Given the description of an element on the screen output the (x, y) to click on. 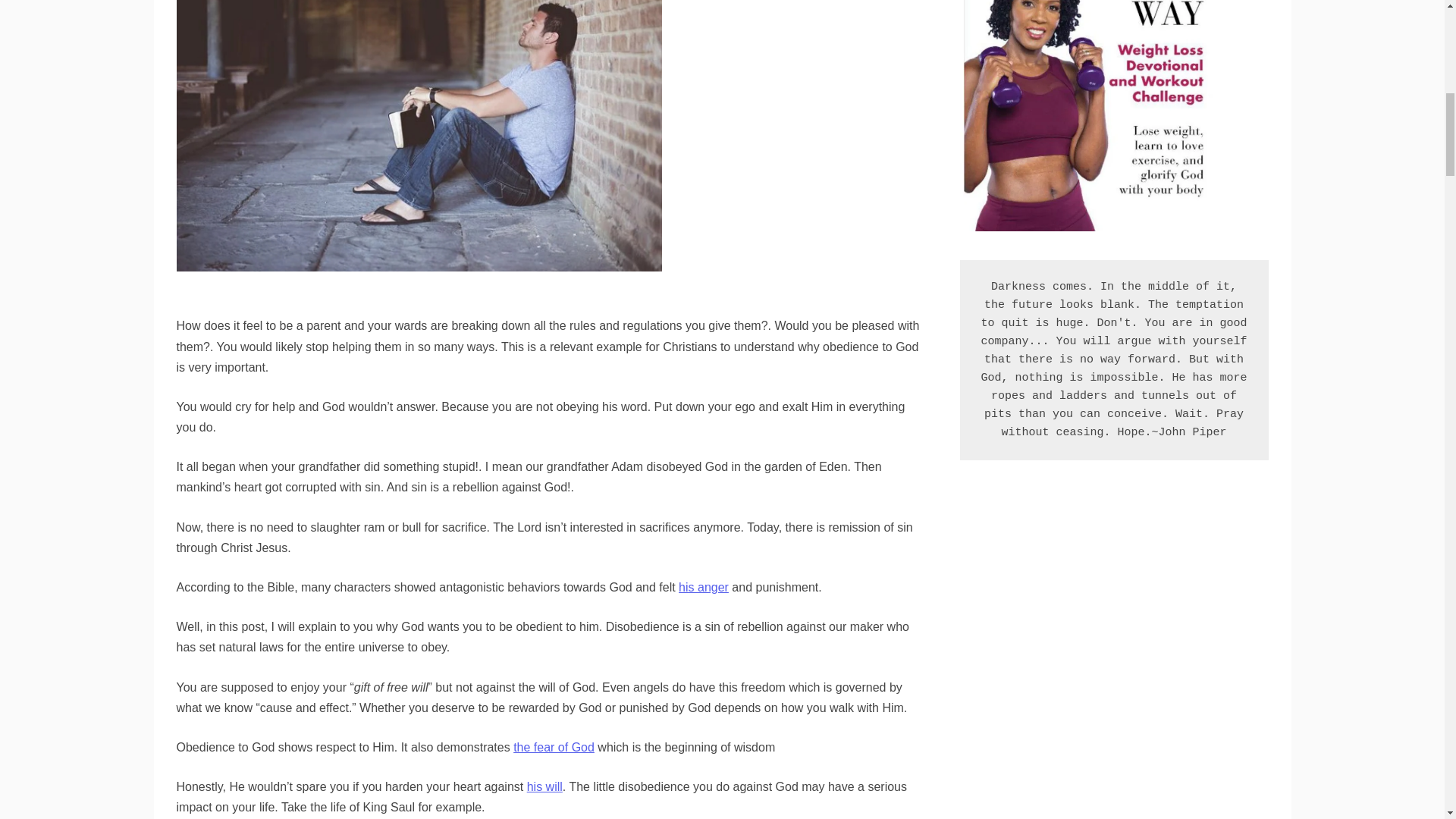
the fear of God (553, 747)
his will (544, 786)
his anger (703, 586)
